Given the description of an element on the screen output the (x, y) to click on. 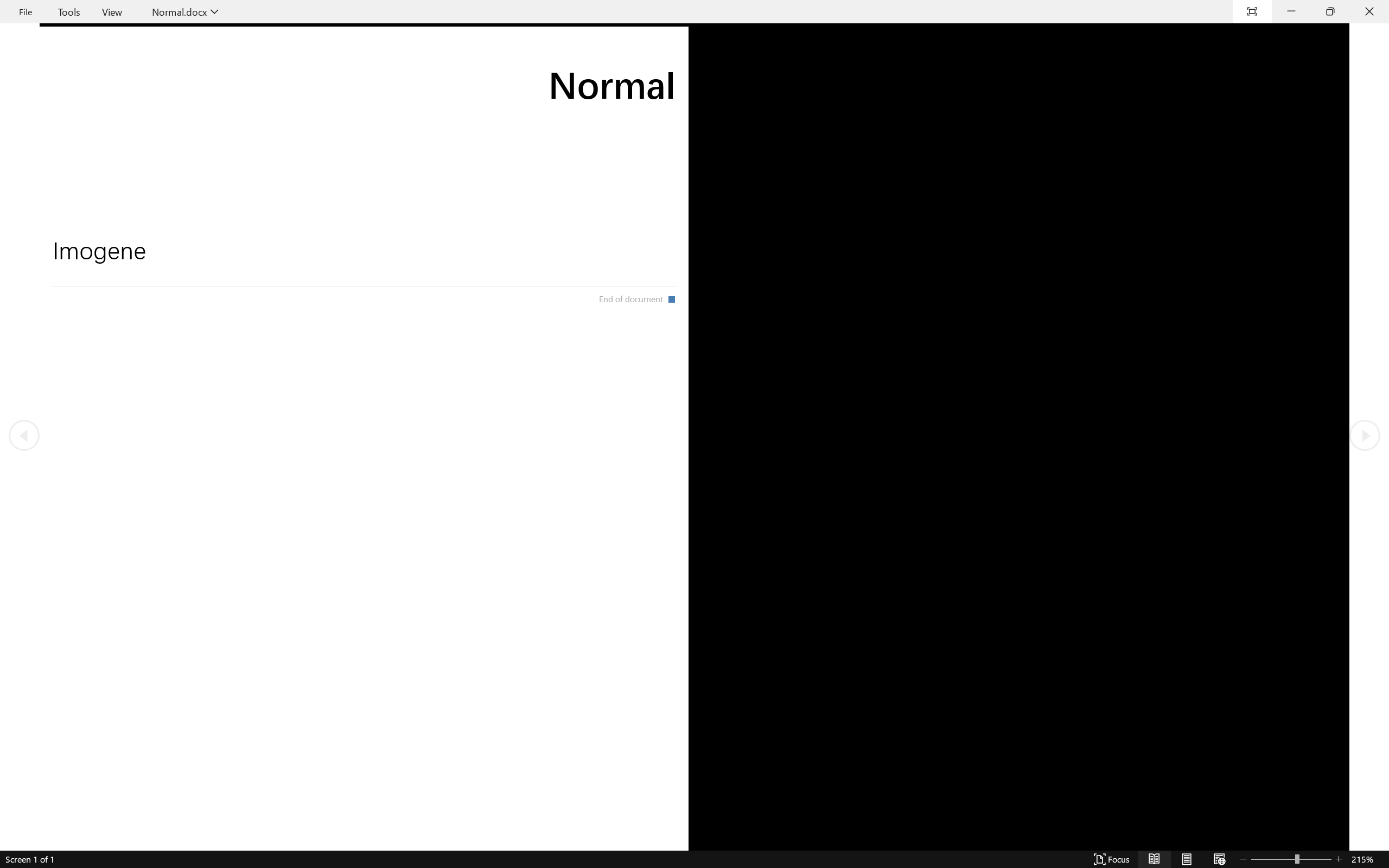
Find... (722, 46)
Section (137, 77)
Text Direction (453, 47)
Align Text (448, 62)
Arrow: Right (562, 60)
